Given the description of an element on the screen output the (x, y) to click on. 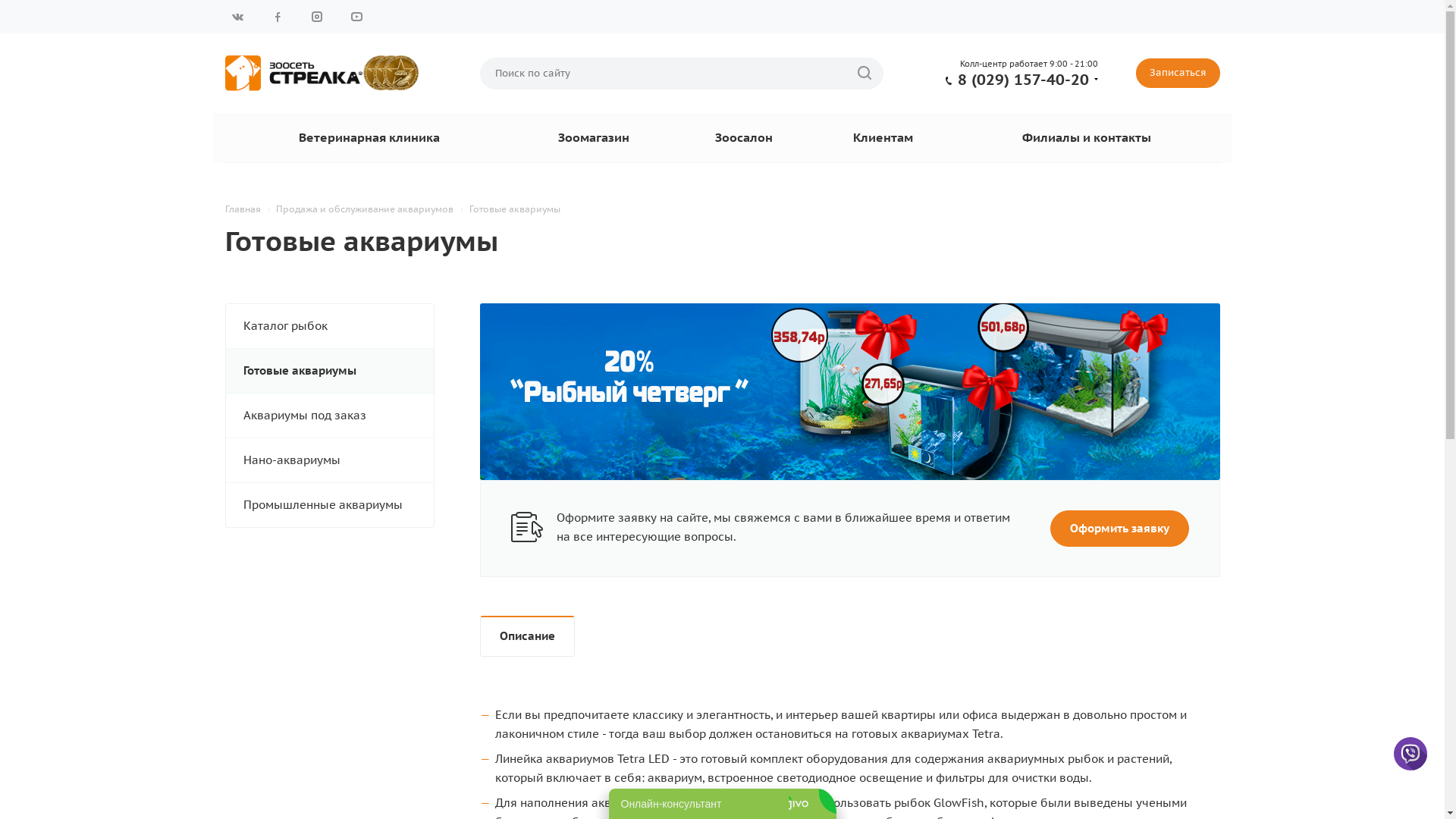
Instagram Element type: text (316, 16)
Facebook Element type: text (276, 16)
YouTube Element type: text (355, 16)
8 (029) 157-40-20 Element type: text (1022, 78)
